Given the description of an element on the screen output the (x, y) to click on. 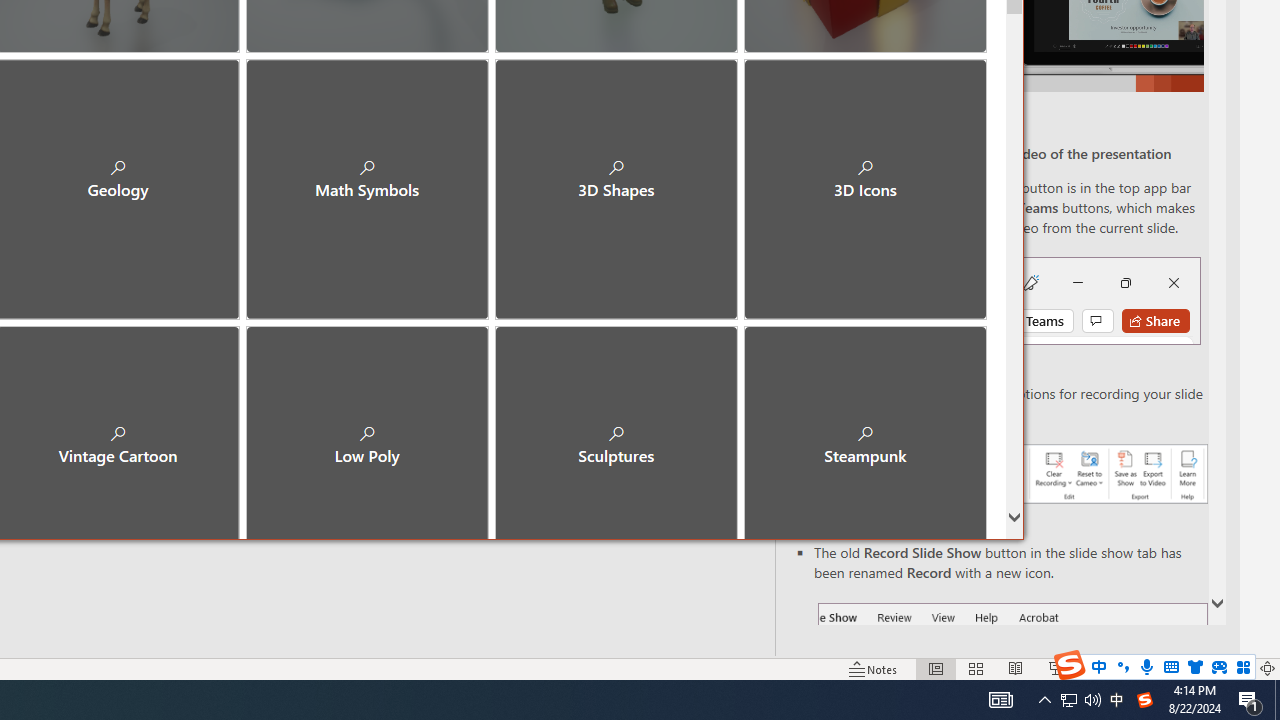
Sculptures (616, 429)
Math Symbols (367, 179)
3D Shapes (616, 179)
